Given the description of an element on the screen output the (x, y) to click on. 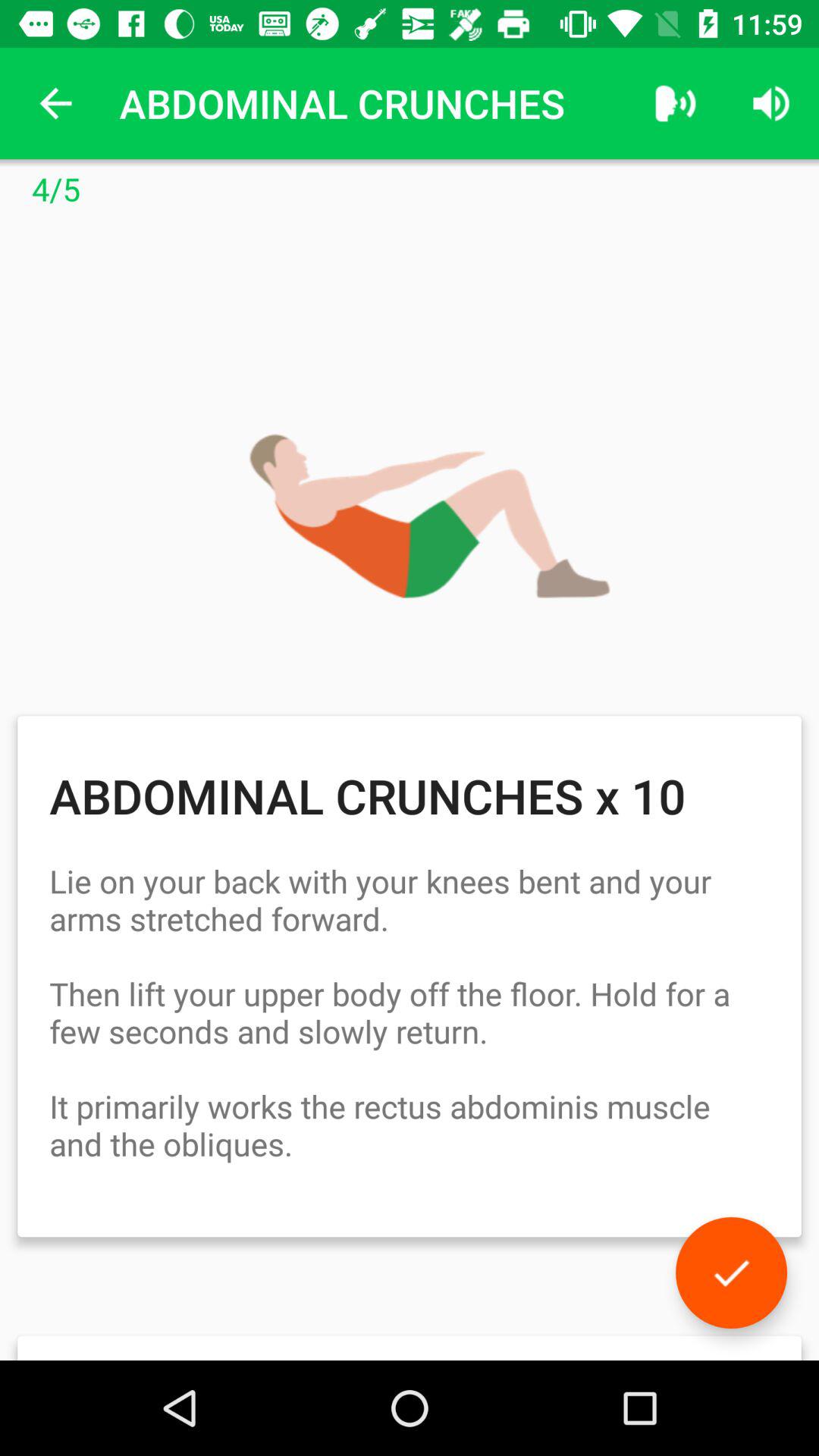
click the button on the bottom right corner of the web page (731, 1273)
